Given the description of an element on the screen output the (x, y) to click on. 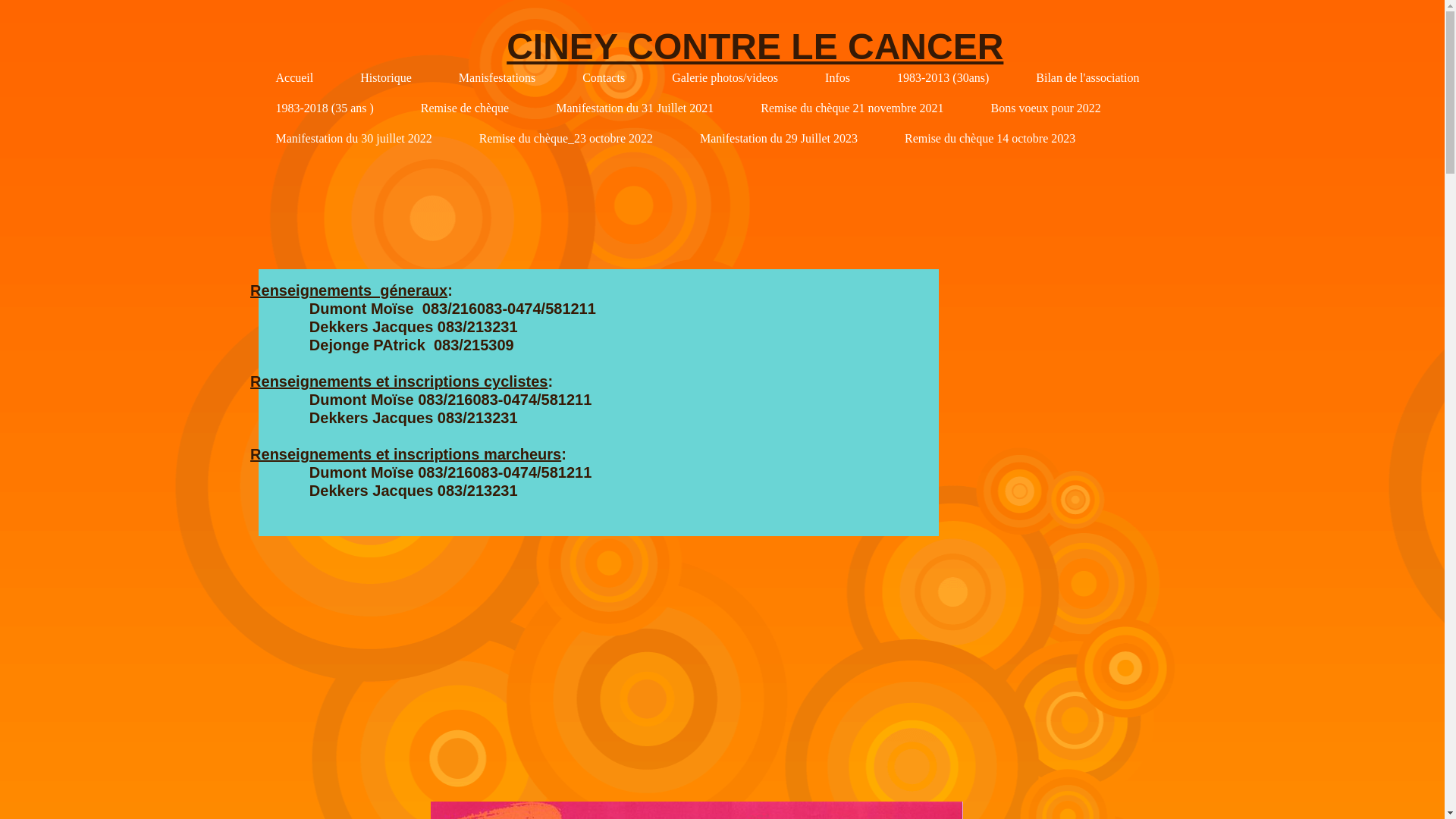
1983-2018 (35 ans ) Element type: text (324, 107)
Historique Element type: text (385, 77)
1983-2013 (30ans) Element type: text (942, 77)
Contacts Element type: text (603, 77)
Manifestation du 29 Juillet 2023 Element type: text (778, 137)
Manifestation du 30 juillet 2022 Element type: text (354, 137)
Galerie photos/videos Element type: text (724, 77)
Manifestation du 31 Juillet 2021 Element type: text (634, 107)
Bilan de l'association Element type: text (1087, 77)
Manisfestations Element type: text (497, 77)
Infos Element type: text (837, 77)
Accueil Element type: text (294, 77)
Bons voeux pour 2022 Element type: text (1045, 107)
